Given the description of an element on the screen output the (x, y) to click on. 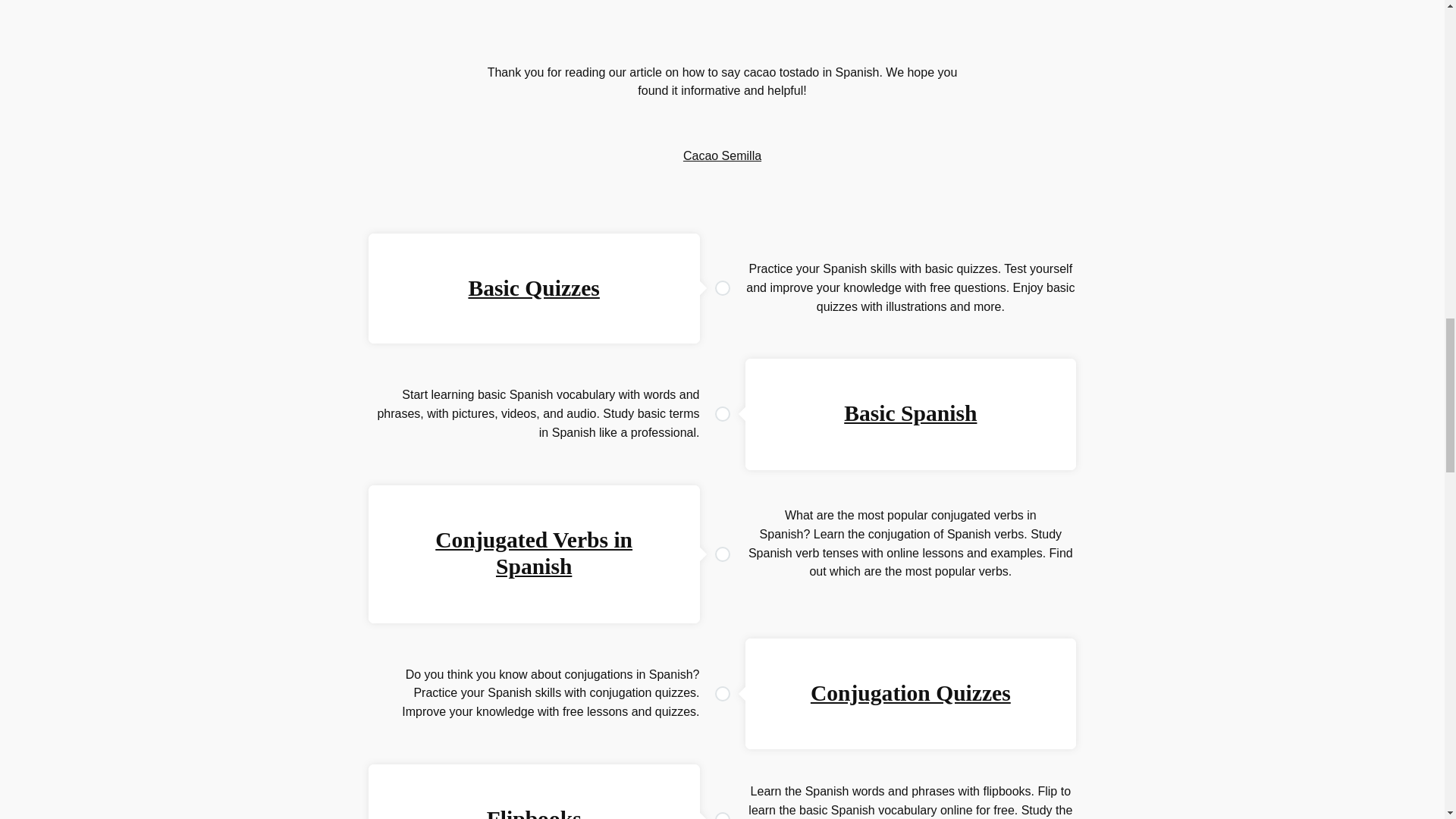
Basic Spanish (910, 413)
Conjugation Quizzes (910, 692)
Basic Quizzes (532, 288)
Conjugated Verbs in Spanish (533, 553)
Cacao Semilla (721, 155)
Flipbooks (533, 812)
